Given the description of an element on the screen output the (x, y) to click on. 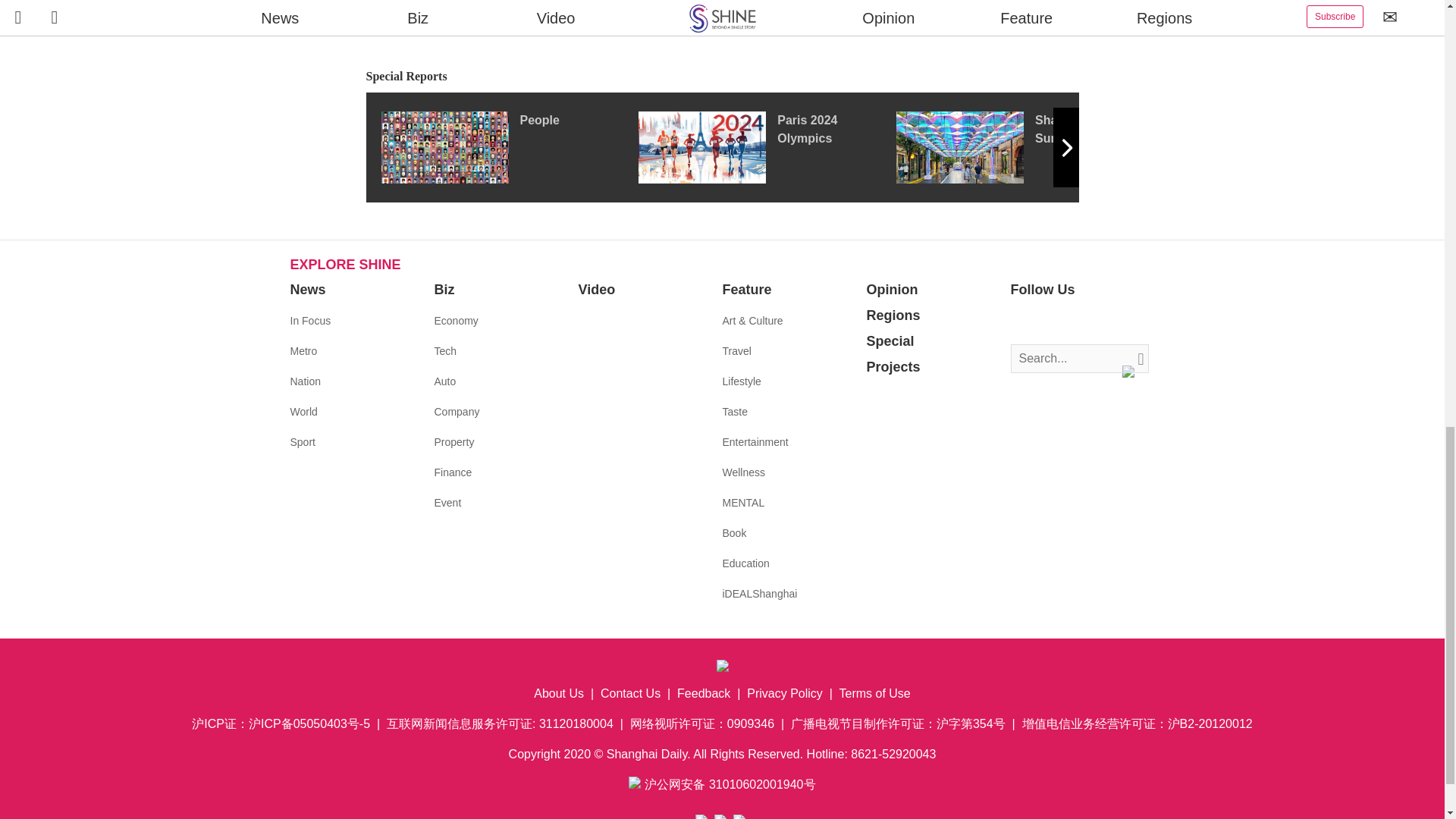
News (306, 289)
Special Reports (721, 76)
Follow us on Wechat (1112, 321)
In Focus (309, 320)
Metro (303, 350)
Follow us on Youtube (1090, 321)
Nation (304, 381)
Follow us on Facebook (1021, 321)
Follow us on Twitter (1044, 321)
People (508, 146)
Follow us on Instagram (1067, 321)
Paris 2024 Olympics (767, 146)
Shanghai Summer (1024, 146)
